Given the description of an element on the screen output the (x, y) to click on. 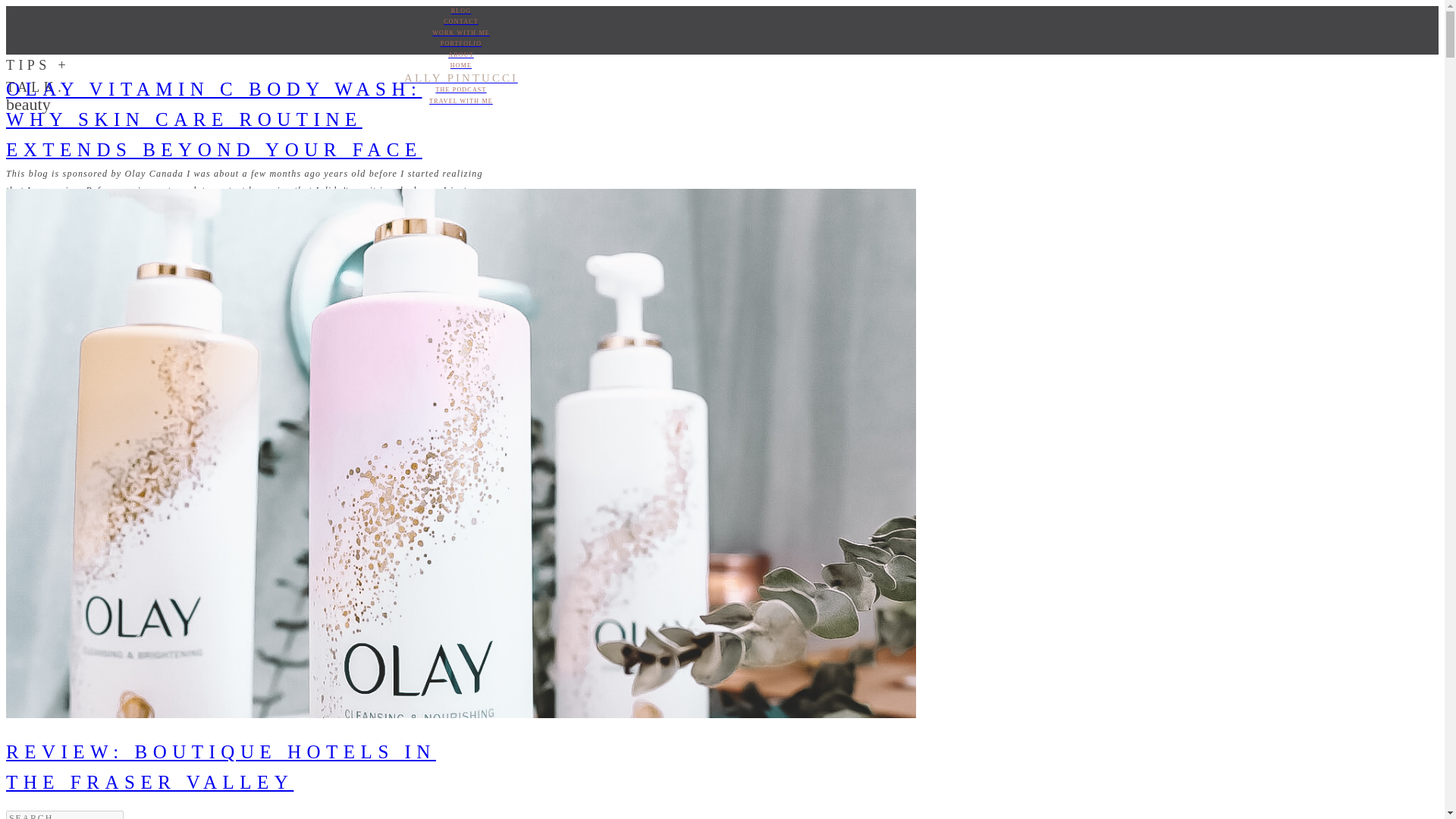
ALLY PINTUCCI (460, 78)
TRAVEL WITH ME (460, 101)
CONTACT (460, 21)
ABOUT (460, 54)
REVIEW: BOUTIQUE HOTELS IN THE FRASER VALLEY (220, 767)
HOME (460, 65)
WORK WITH ME (460, 32)
PORTFOLIO (460, 43)
THE PODCAST (460, 90)
BLOG (460, 10)
